Given the description of an element on the screen output the (x, y) to click on. 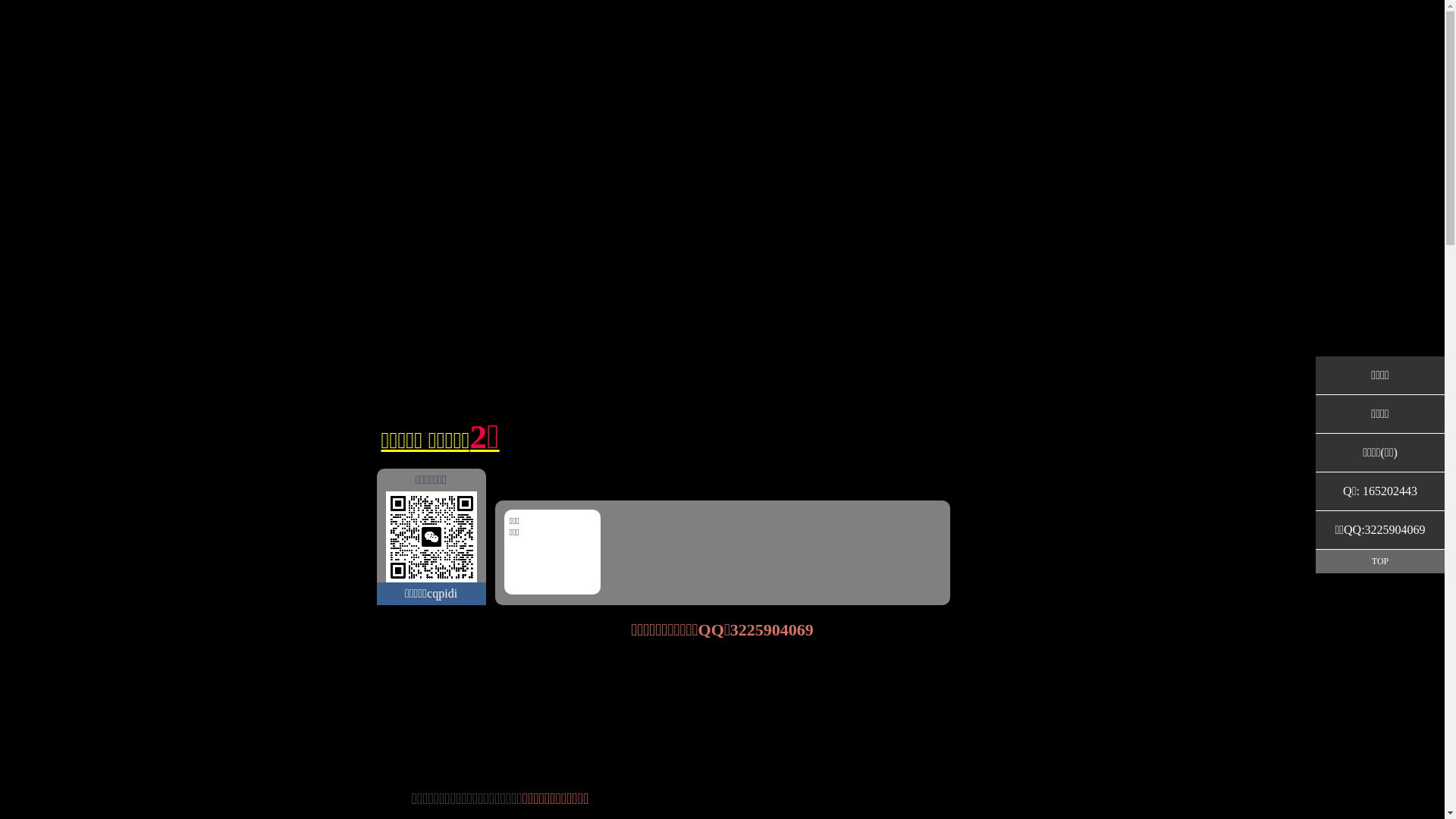
TOP Element type: text (1379, 561)
